Given the description of an element on the screen output the (x, y) to click on. 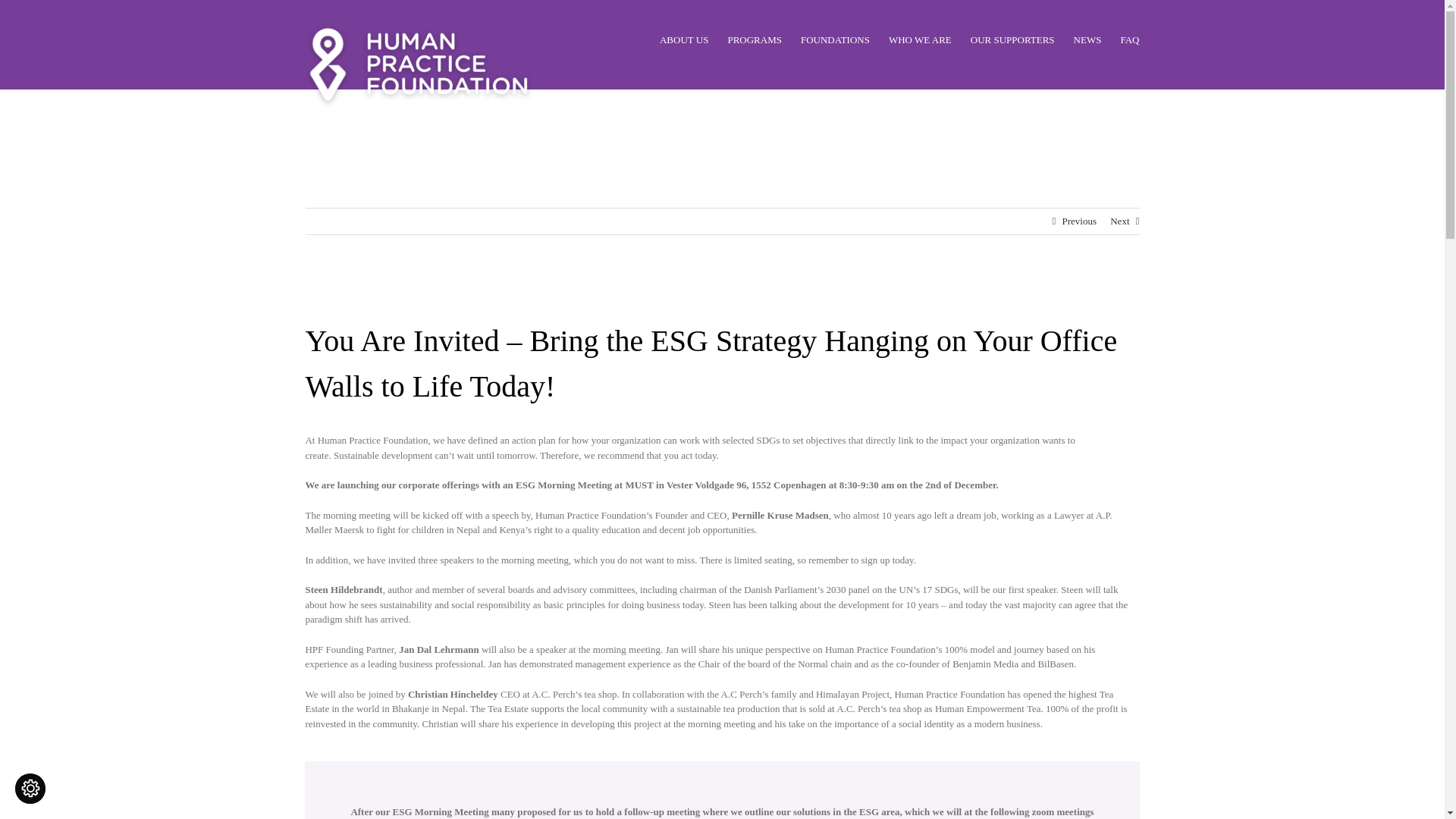
OUR SUPPORTERS (1012, 39)
